Given the description of an element on the screen output the (x, y) to click on. 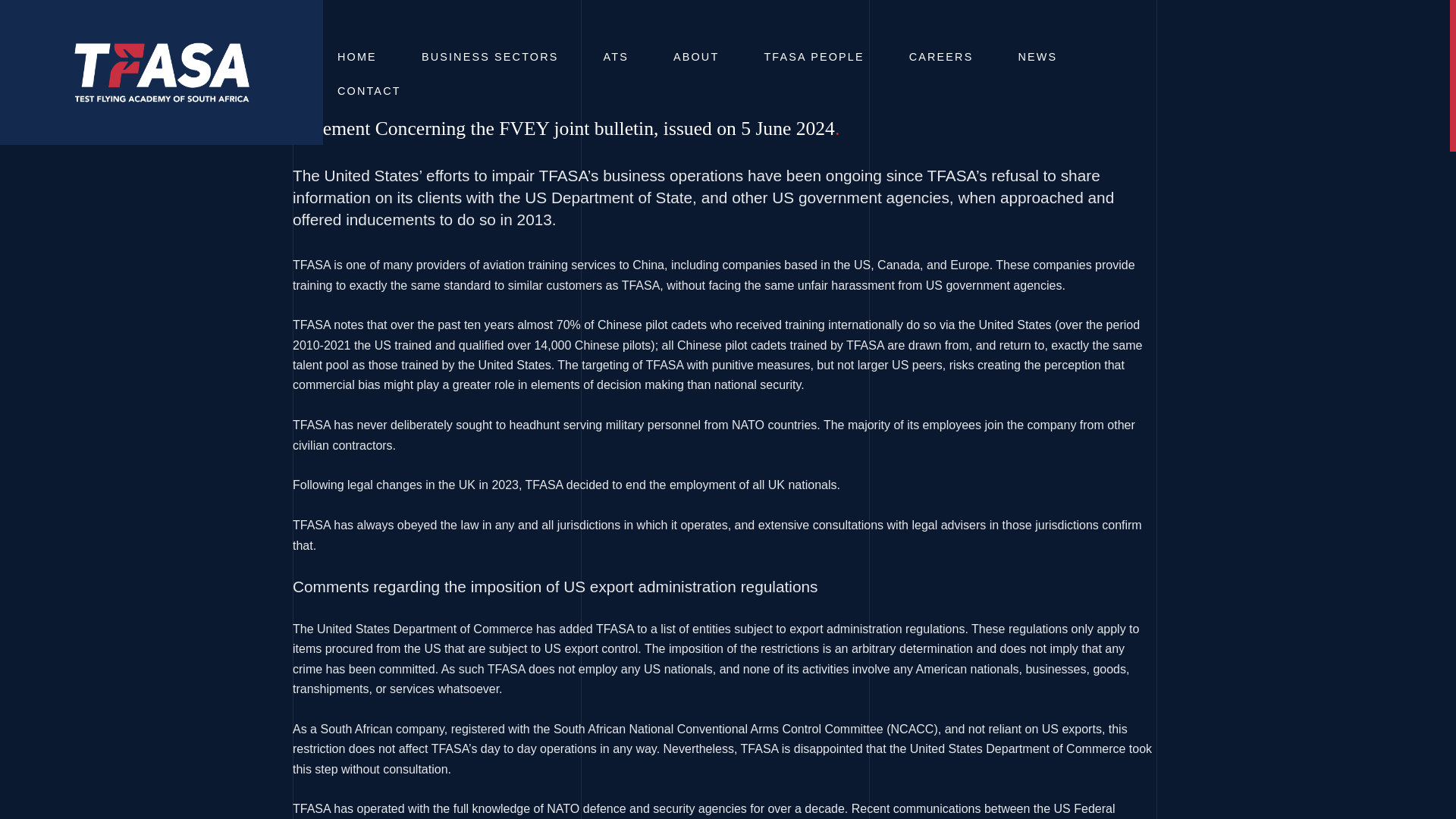
CONTACT (369, 91)
BUSINESS SECTORS (490, 57)
CAREERS (941, 57)
NEWS (1037, 57)
ATS (616, 57)
HOME (357, 57)
ABOUT (695, 57)
TFASA PEOPLE (812, 57)
